Given the description of an element on the screen output the (x, y) to click on. 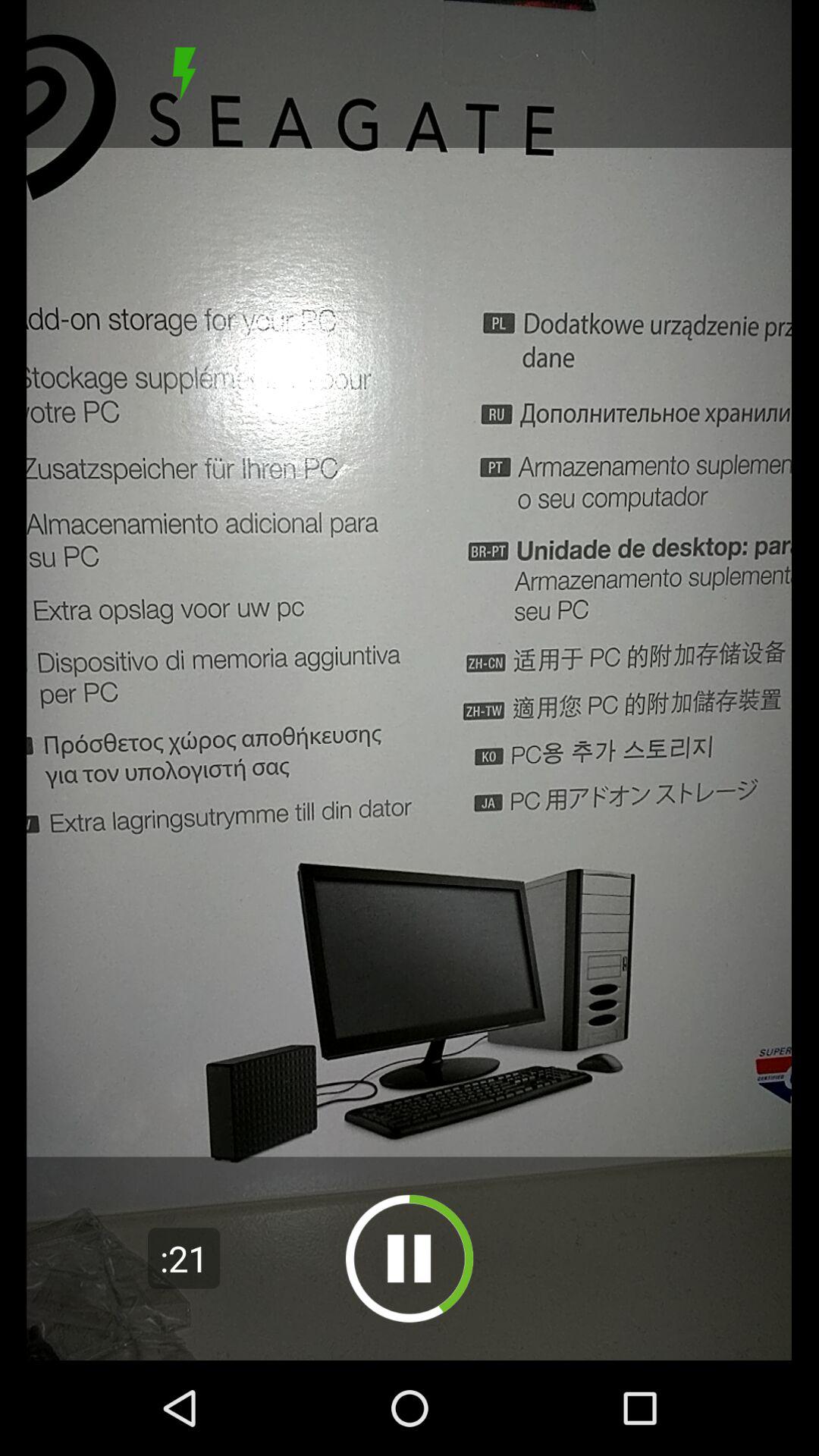
toggle camera flash (184, 73)
